Given the description of an element on the screen output the (x, y) to click on. 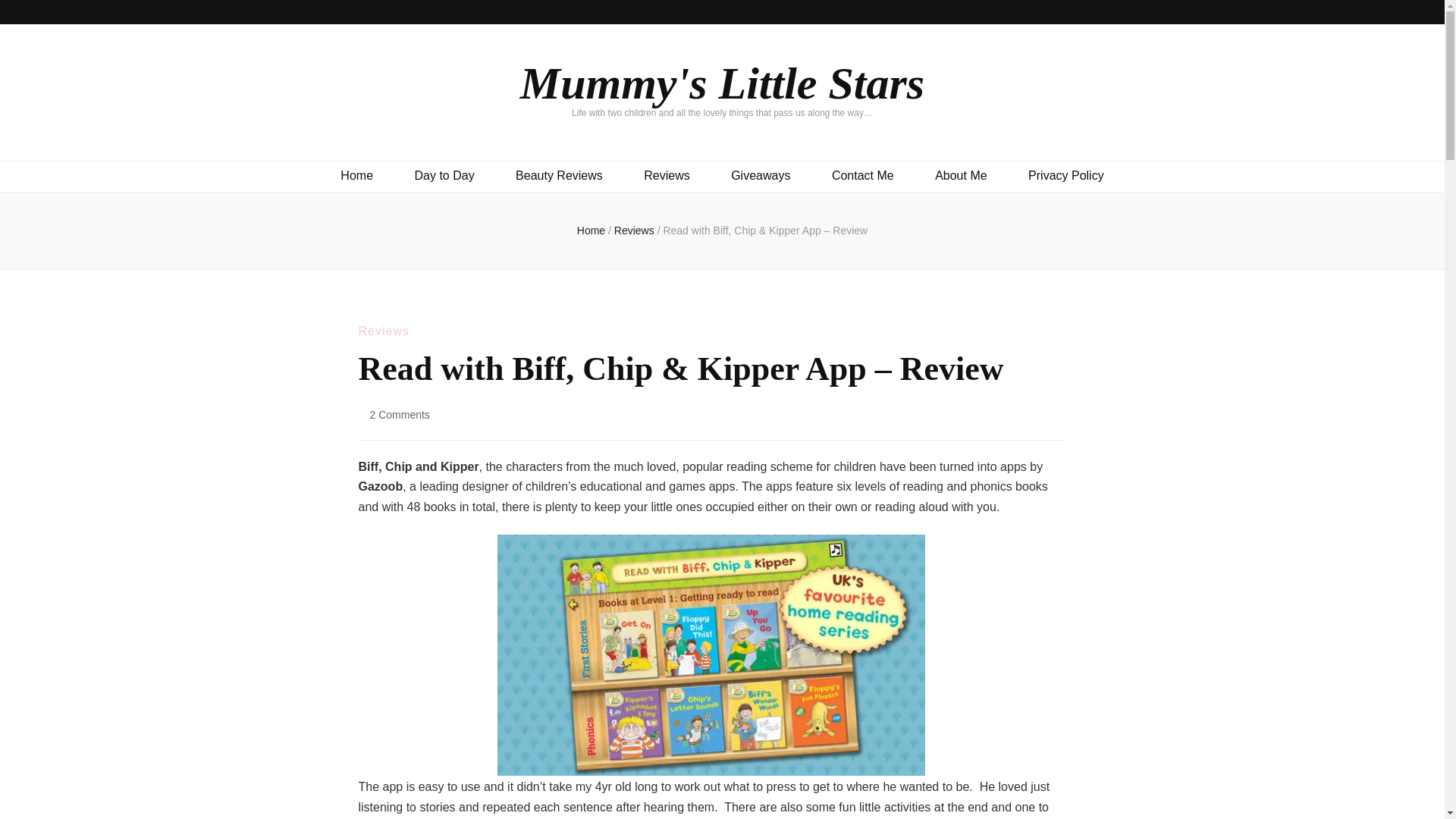
Reviews (383, 330)
Privacy Policy (1065, 176)
Home (590, 230)
Beauty Reviews (558, 176)
Home (356, 176)
About Me (960, 176)
Reviews (636, 230)
Reviews (665, 176)
Day to Day (443, 176)
Contact Me (862, 176)
